Given the description of an element on the screen output the (x, y) to click on. 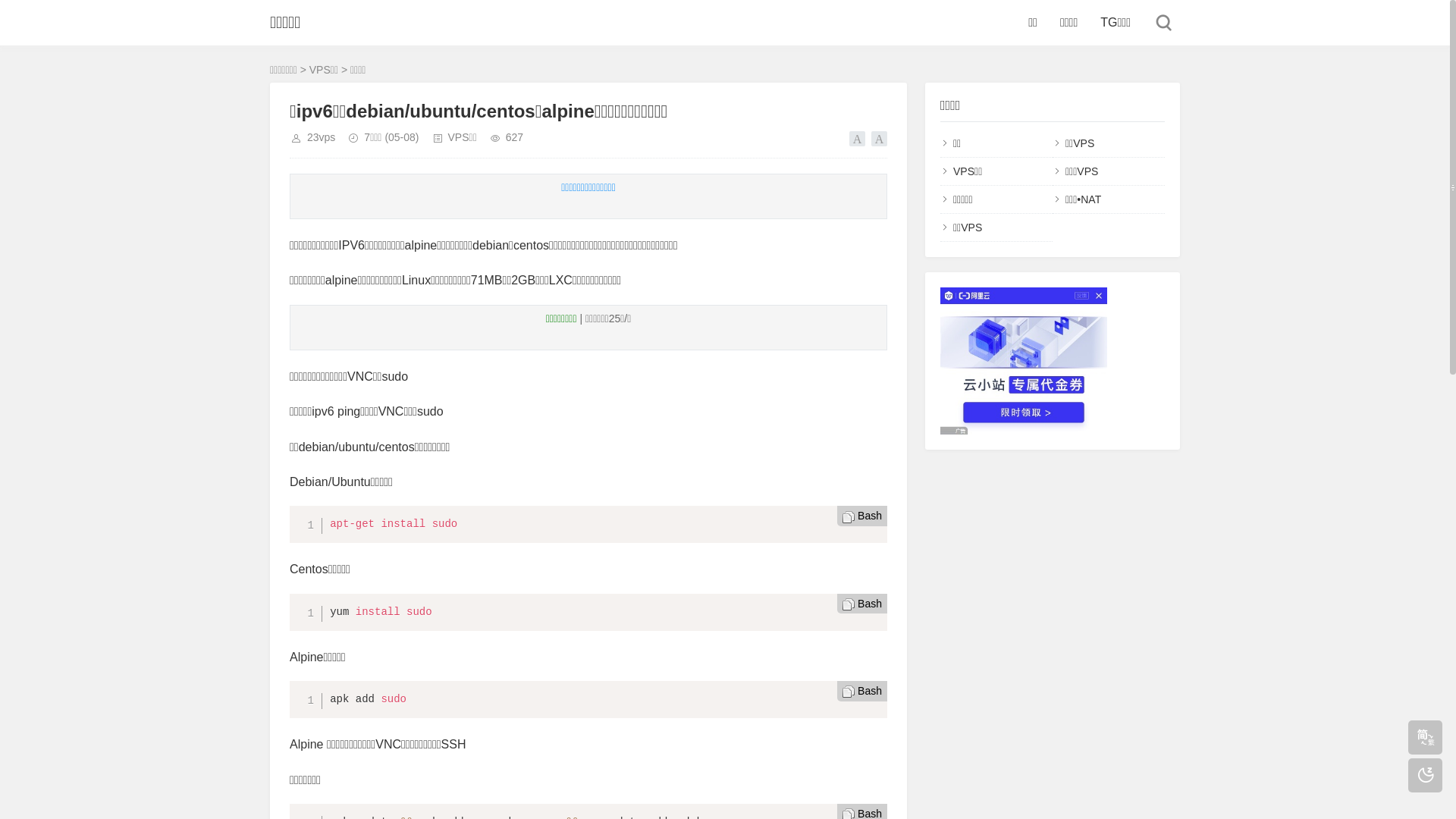
23vps Element type: text (321, 137)
